Given the description of an element on the screen output the (x, y) to click on. 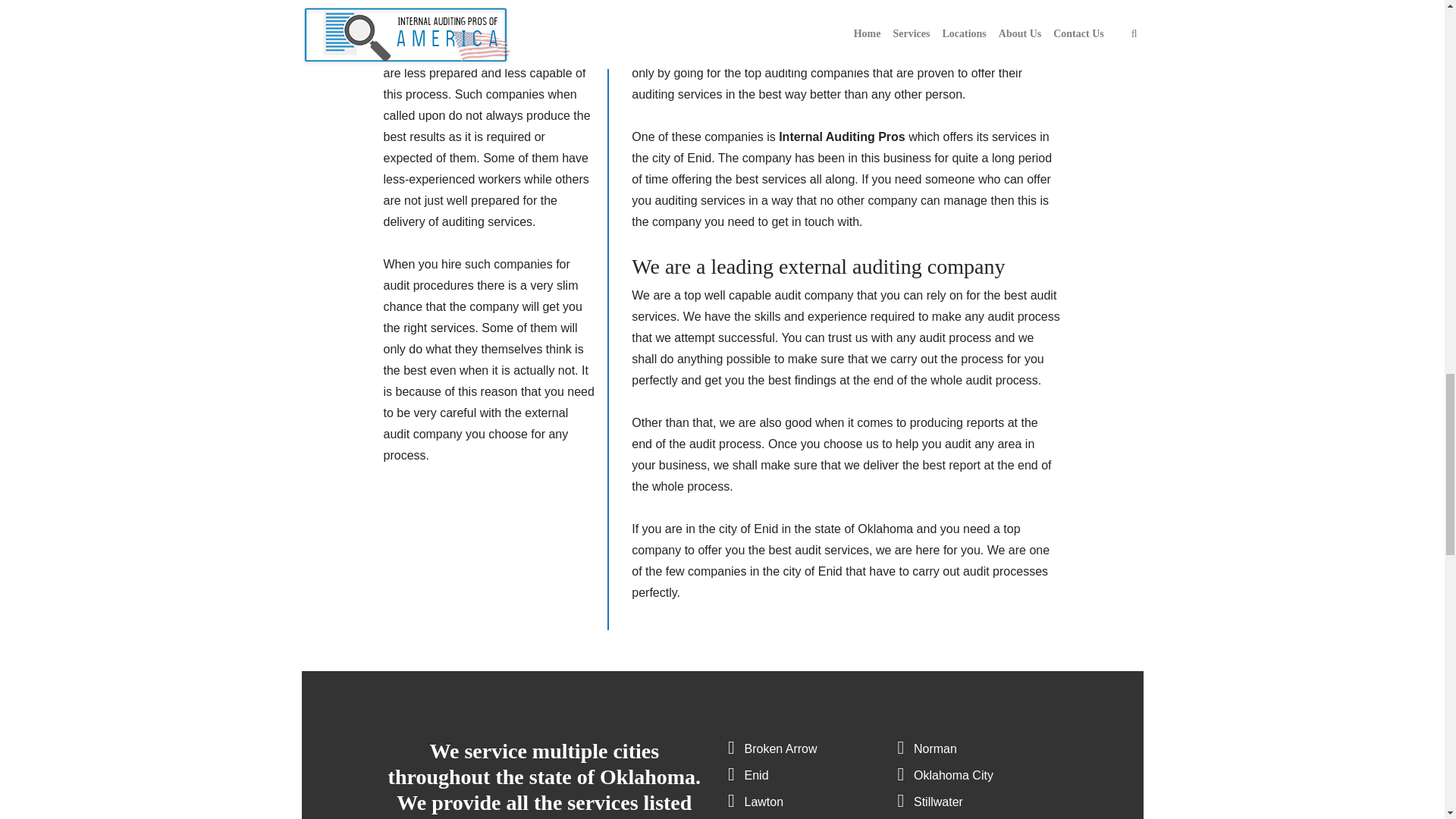
Oklahoma City (953, 775)
Enid (756, 775)
Stillwater (938, 801)
Lawton (764, 801)
Norman (935, 748)
Broken Arrow (780, 748)
